Given the description of an element on the screen output the (x, y) to click on. 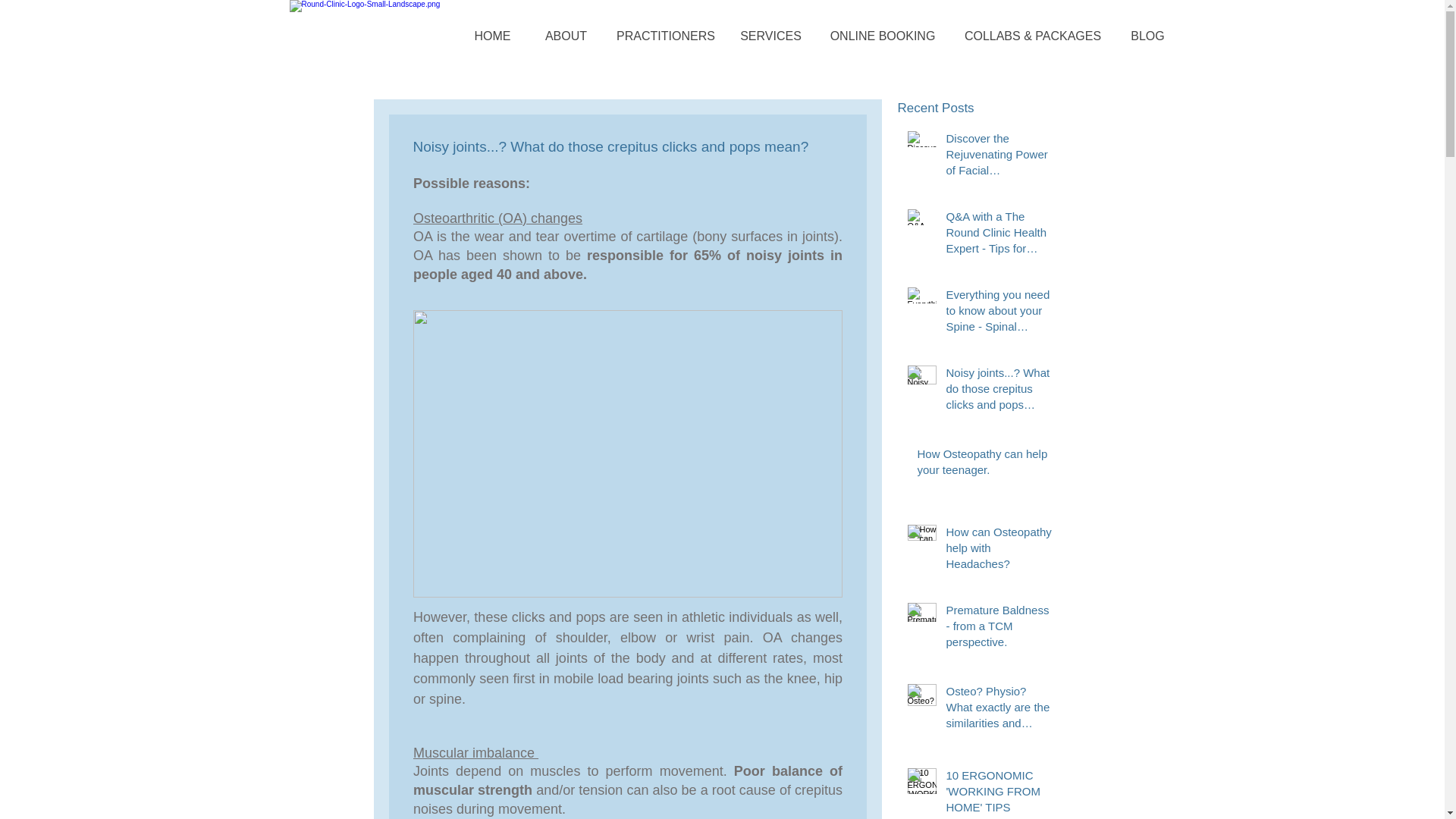
ABOUT (565, 36)
PRACTITIONERS (665, 36)
ONLINE BOOKING (882, 36)
SERVICES (770, 36)
HOME (492, 36)
